Given the description of an element on the screen output the (x, y) to click on. 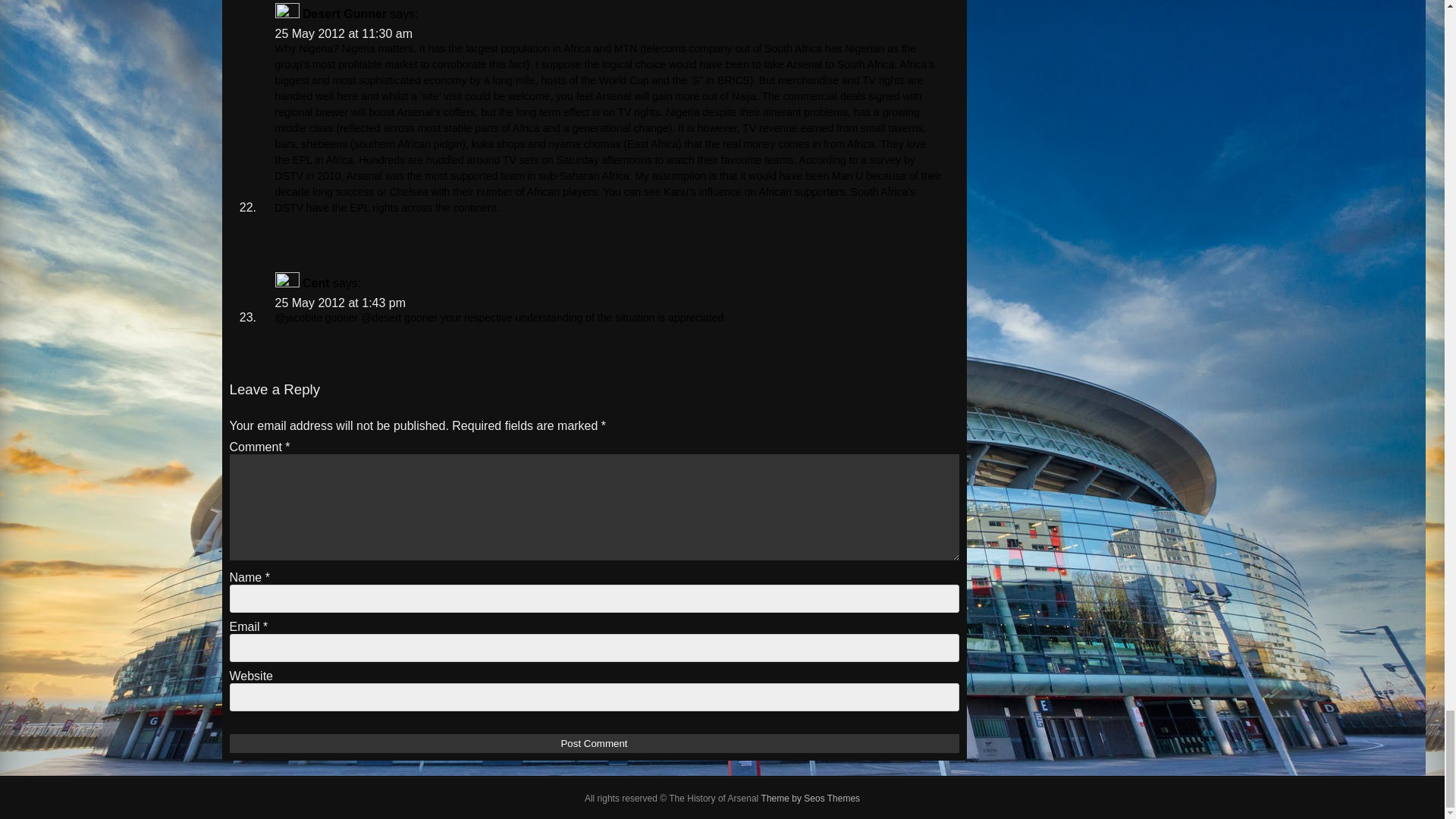
Post Comment (593, 742)
